Given the description of an element on the screen output the (x, y) to click on. 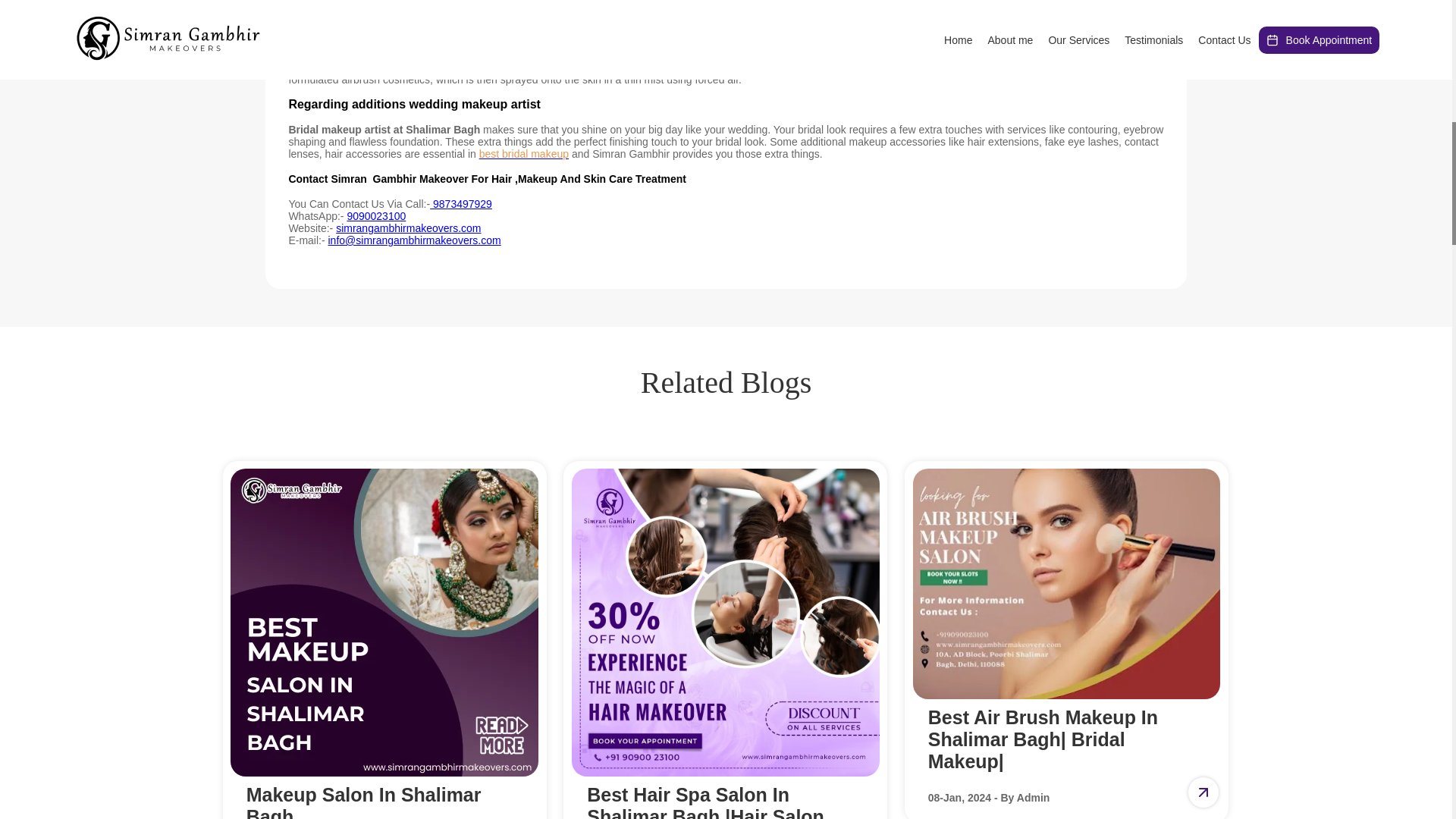
9873497929 (460, 203)
9090023100 (376, 215)
simrangambhirmakeovers.com (384, 643)
best bridal makeup (408, 227)
